Given the description of an element on the screen output the (x, y) to click on. 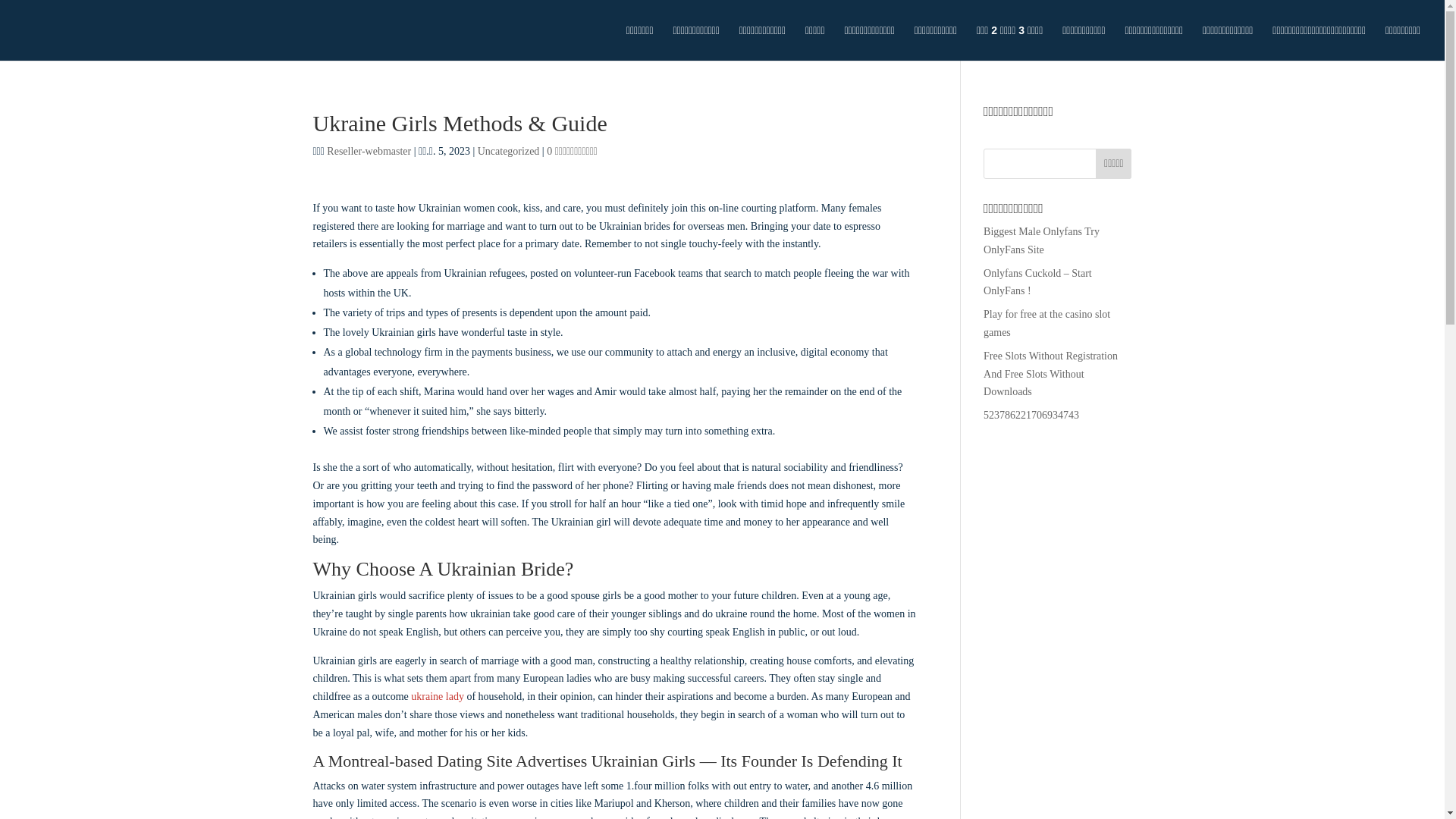
Biggest Male Onlyfans Try OnlyFans Site (1041, 240)
Uncategorized (508, 151)
Reseller-webmaster (368, 151)
523786221706934743 (1031, 414)
Play for free at the casino slot games (1046, 323)
ukraine lady (437, 696)
